Given the description of an element on the screen output the (x, y) to click on. 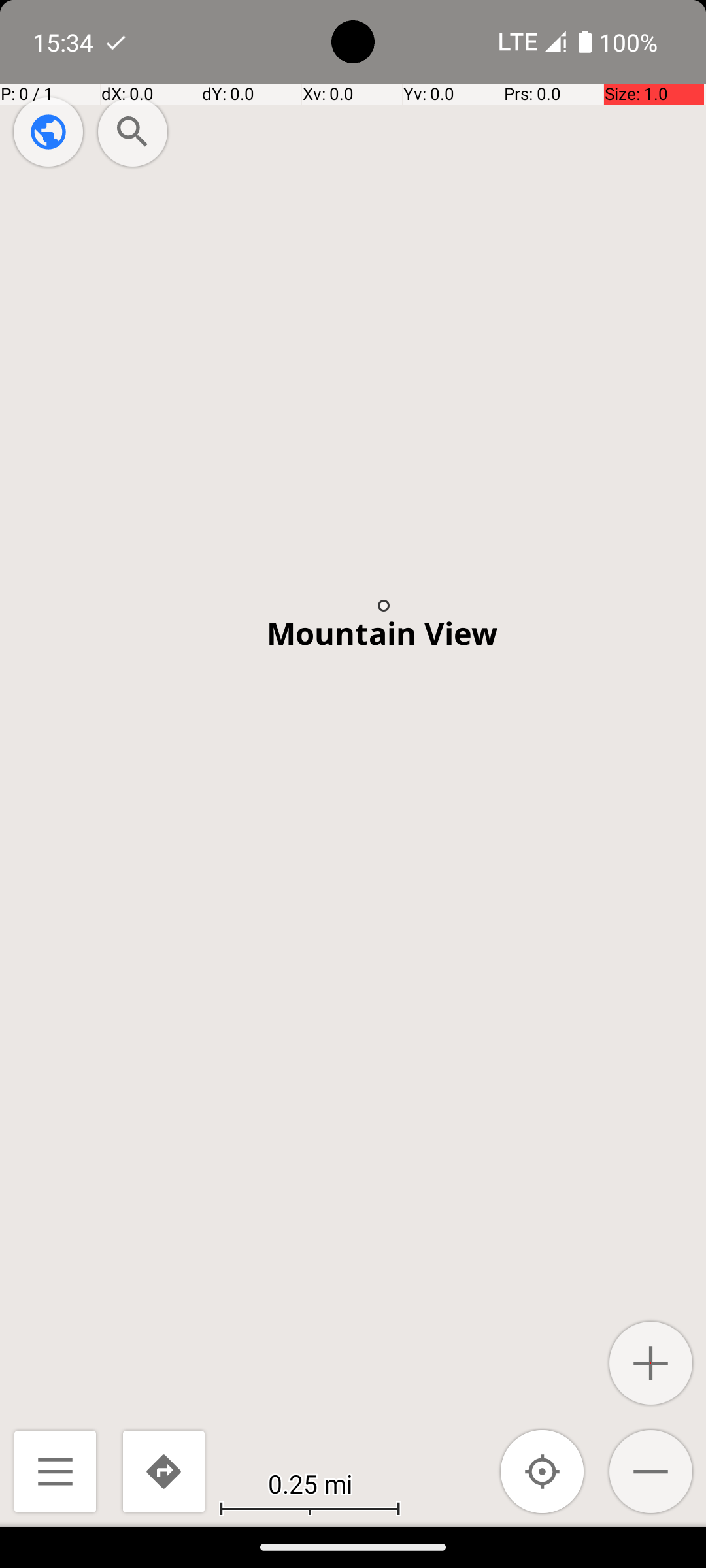
0.25 mi Element type: android.widget.TextView (309, 1483)
